Given the description of an element on the screen output the (x, y) to click on. 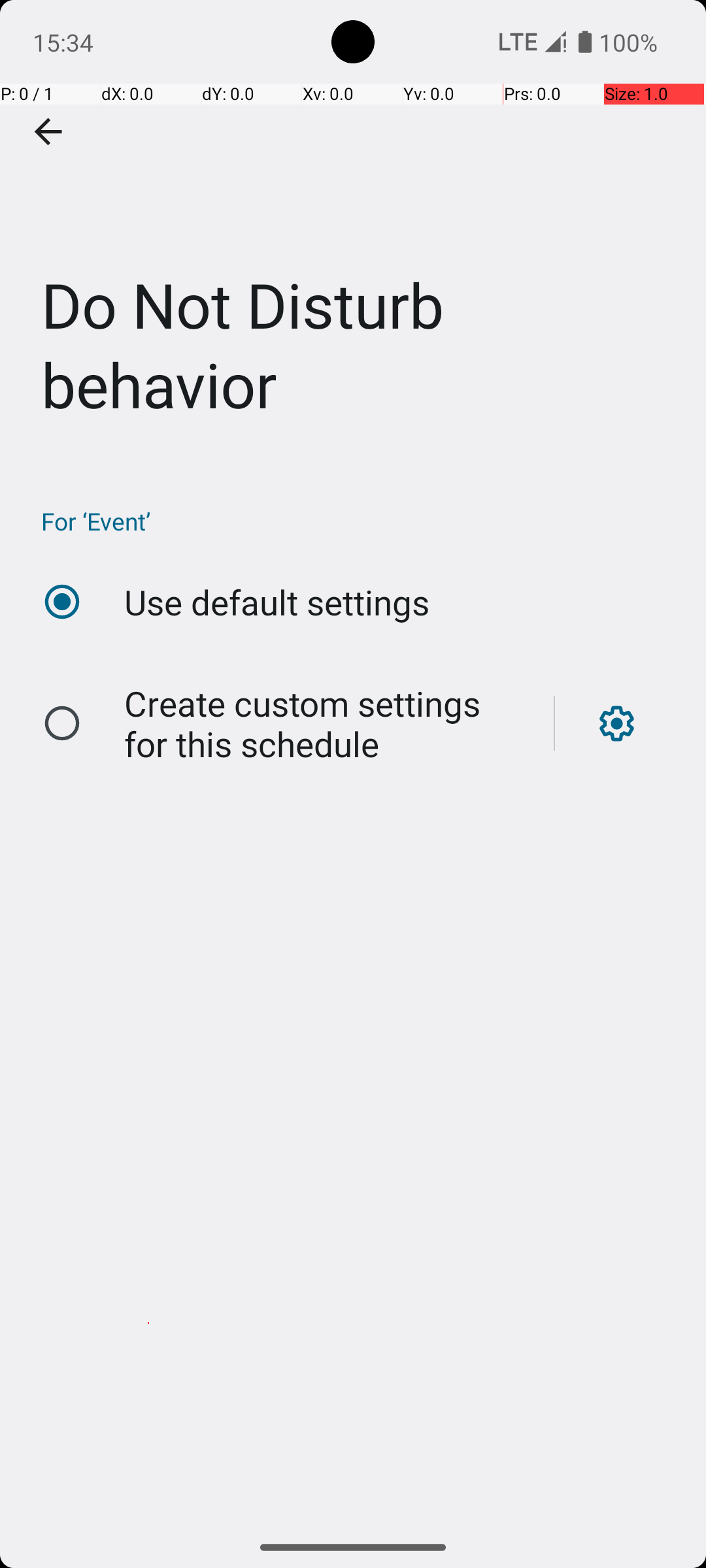
Do Not Disturb behavior Element type: android.widget.FrameLayout (353, 231)
For ‘Event’ Element type: android.widget.TextView (359, 520)
Use default settings Element type: android.widget.TextView (276, 601)
Create custom settings for this schedule Element type: android.widget.TextView (325, 723)
